Given the description of an element on the screen output the (x, y) to click on. 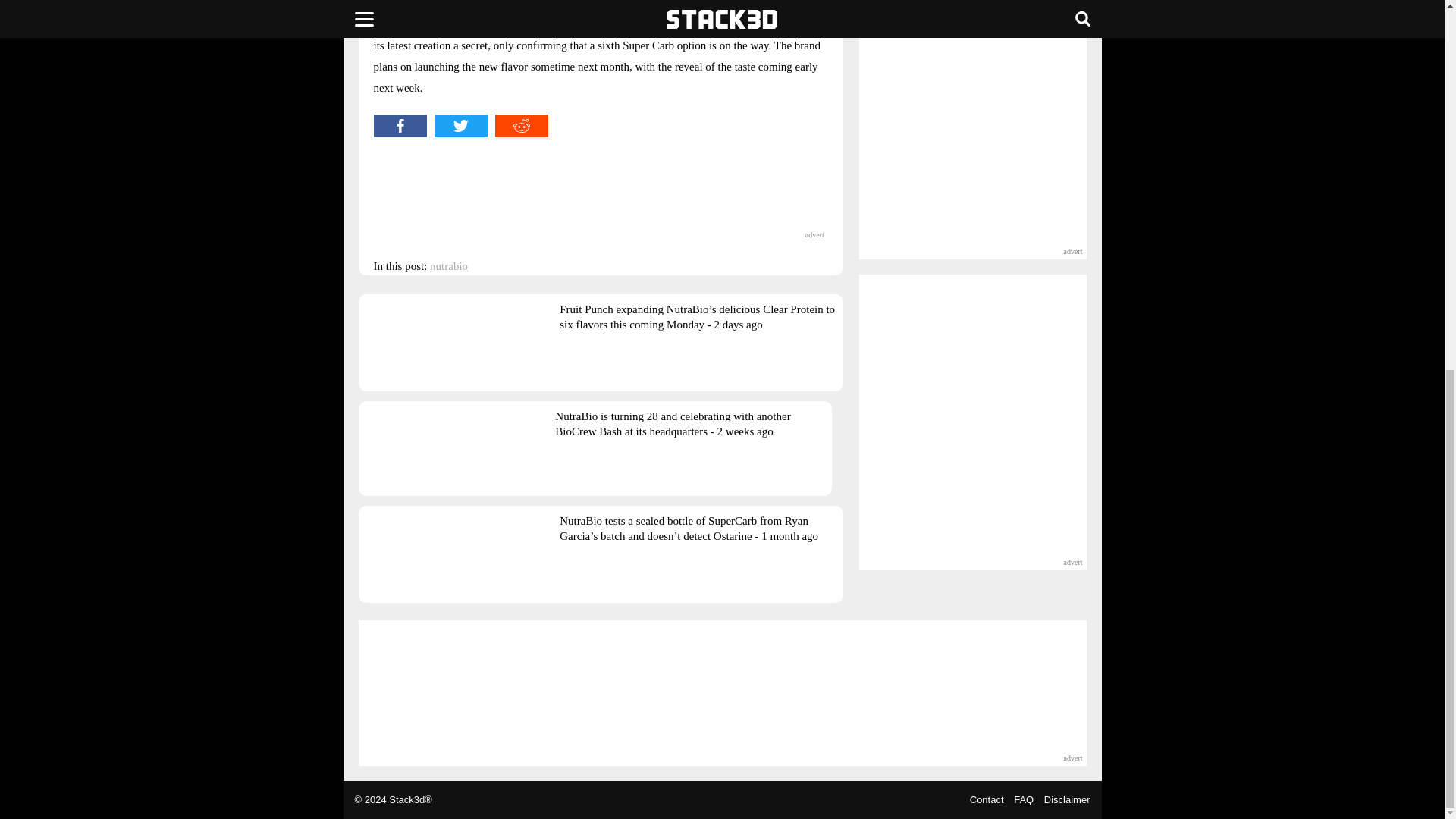
nutrabio (448, 265)
